Given the description of an element on the screen output the (x, y) to click on. 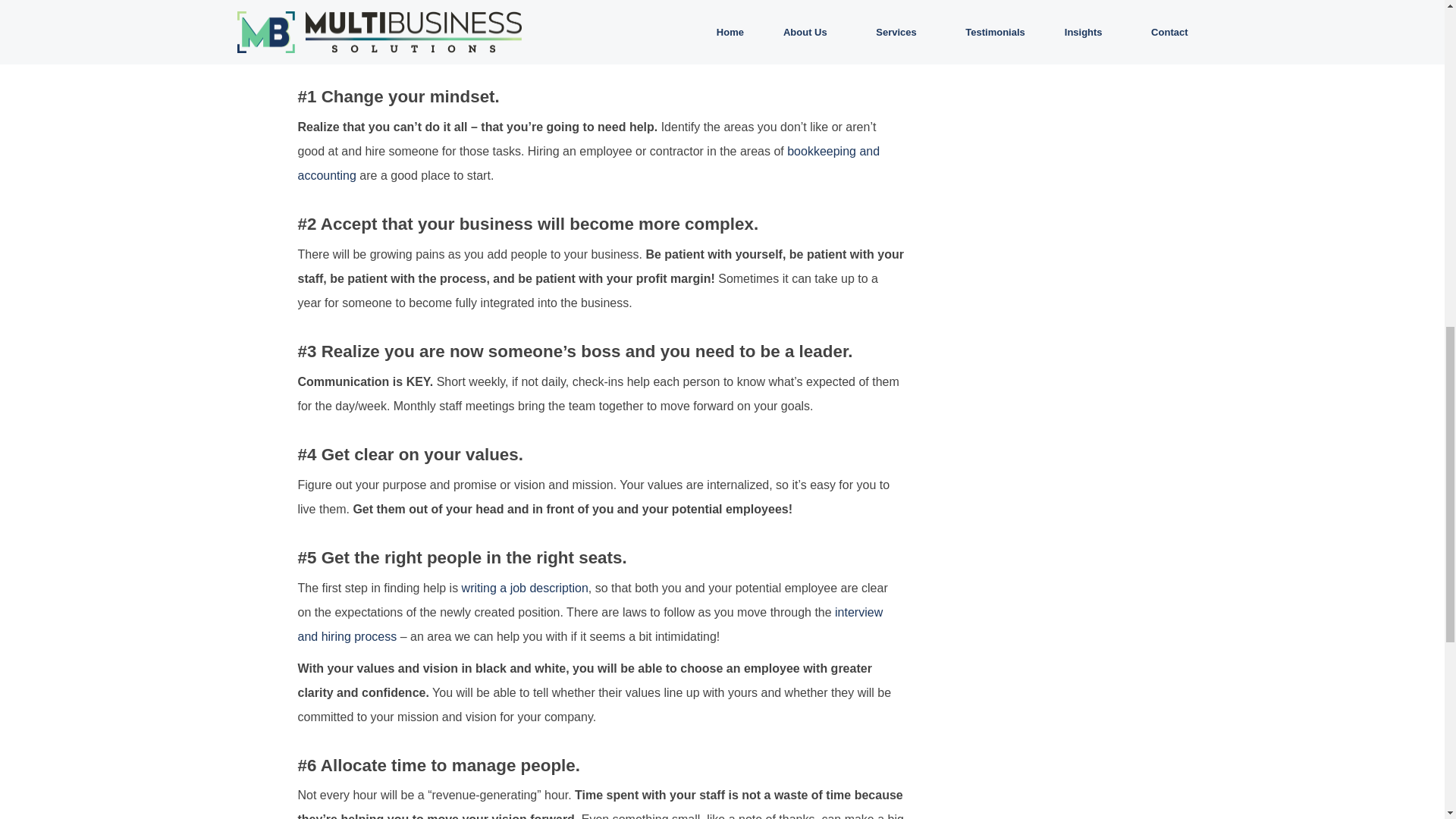
bookkeeping and accounting (588, 162)
interview and hiring process (589, 624)
writing a job description (524, 587)
